Given the description of an element on the screen output the (x, y) to click on. 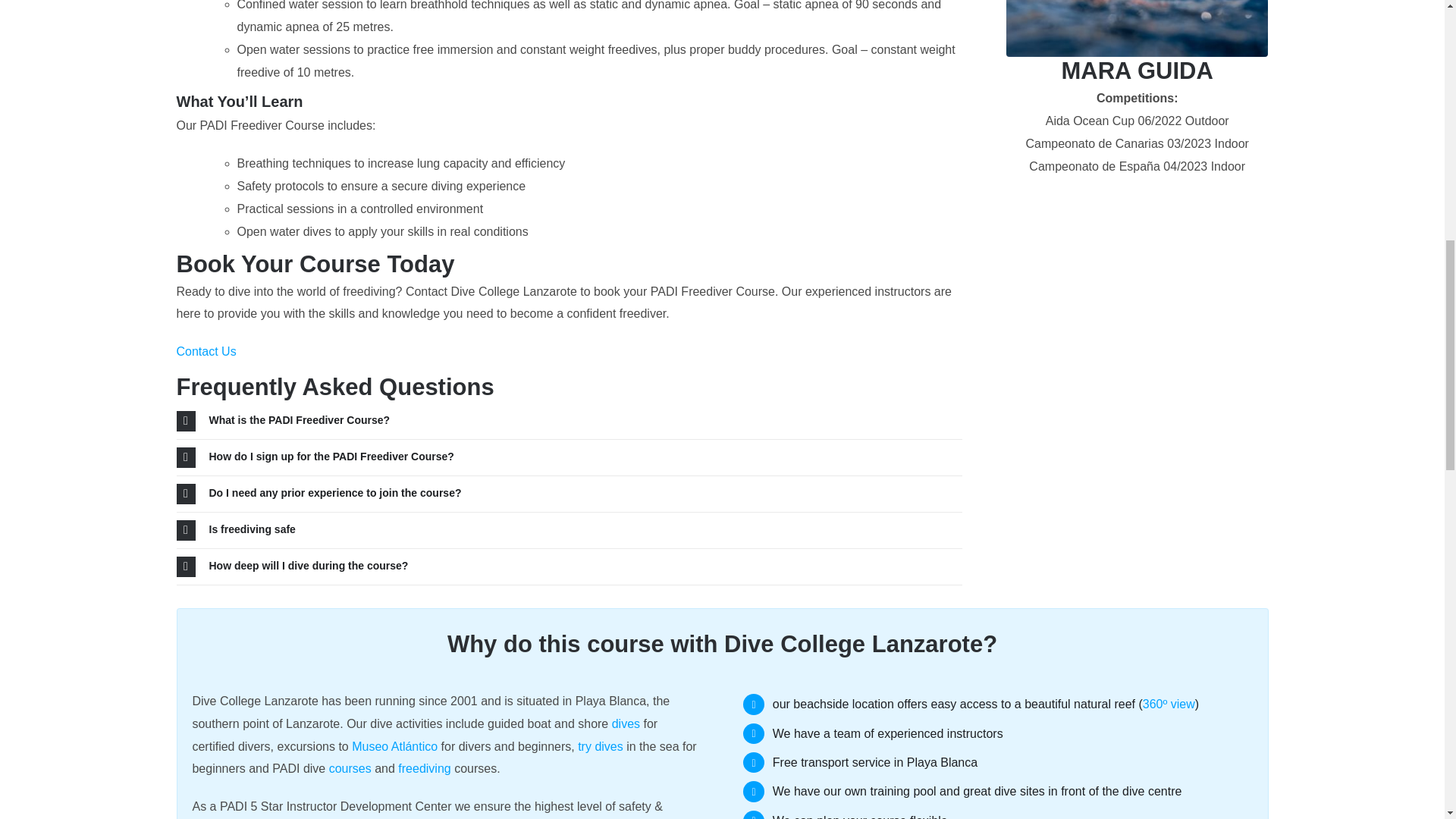
Mara-Guida-Freediving (1137, 28)
